Given the description of an element on the screen output the (x, y) to click on. 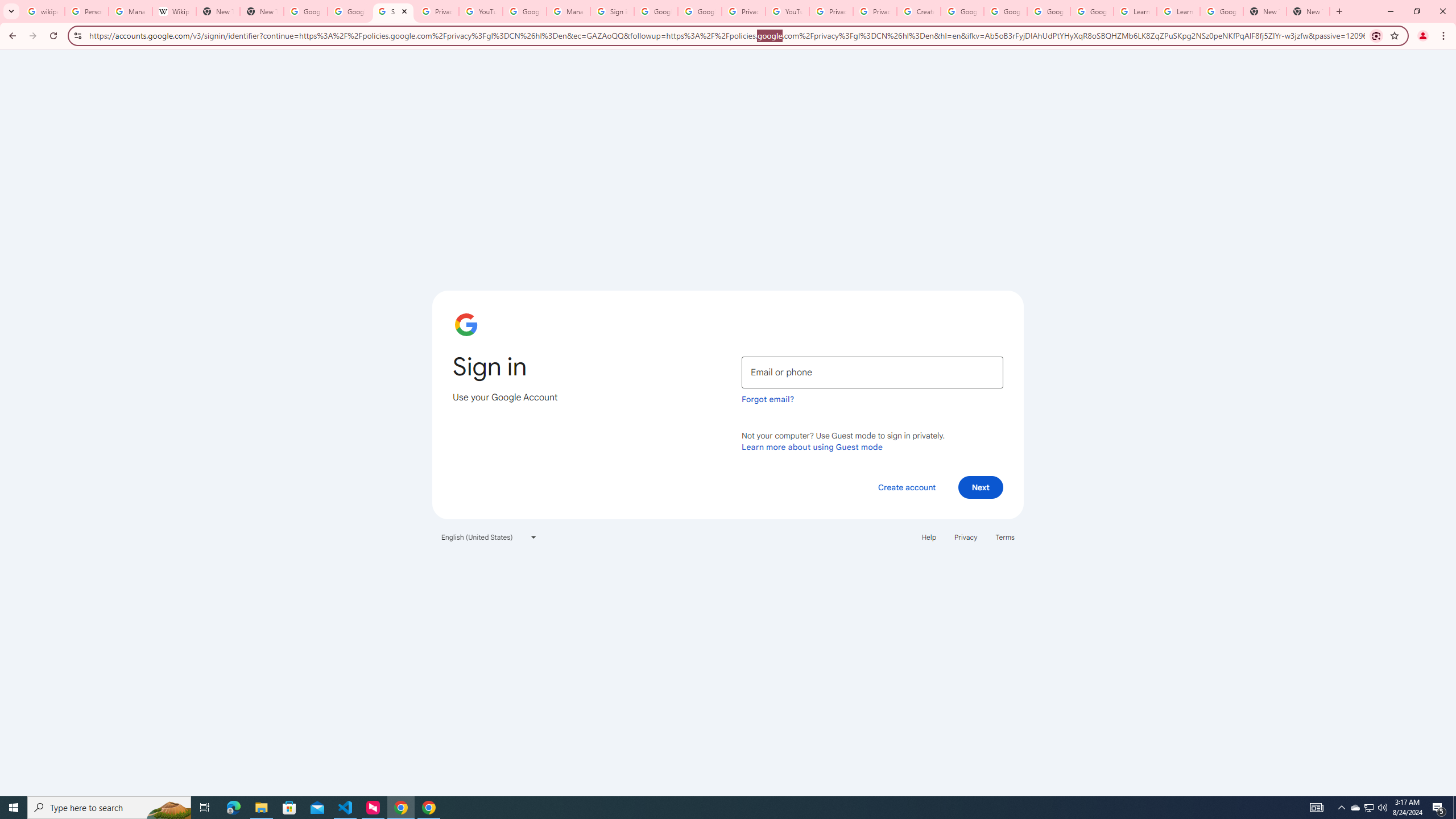
Google Account Help (524, 11)
Sign in - Google Accounts (393, 11)
Google Account (1221, 11)
Learn more about using Guest mode (812, 446)
New Tab (1264, 11)
Create your Google Account (918, 11)
Wikipedia:Edit requests - Wikipedia (173, 11)
